Given the description of an element on the screen output the (x, y) to click on. 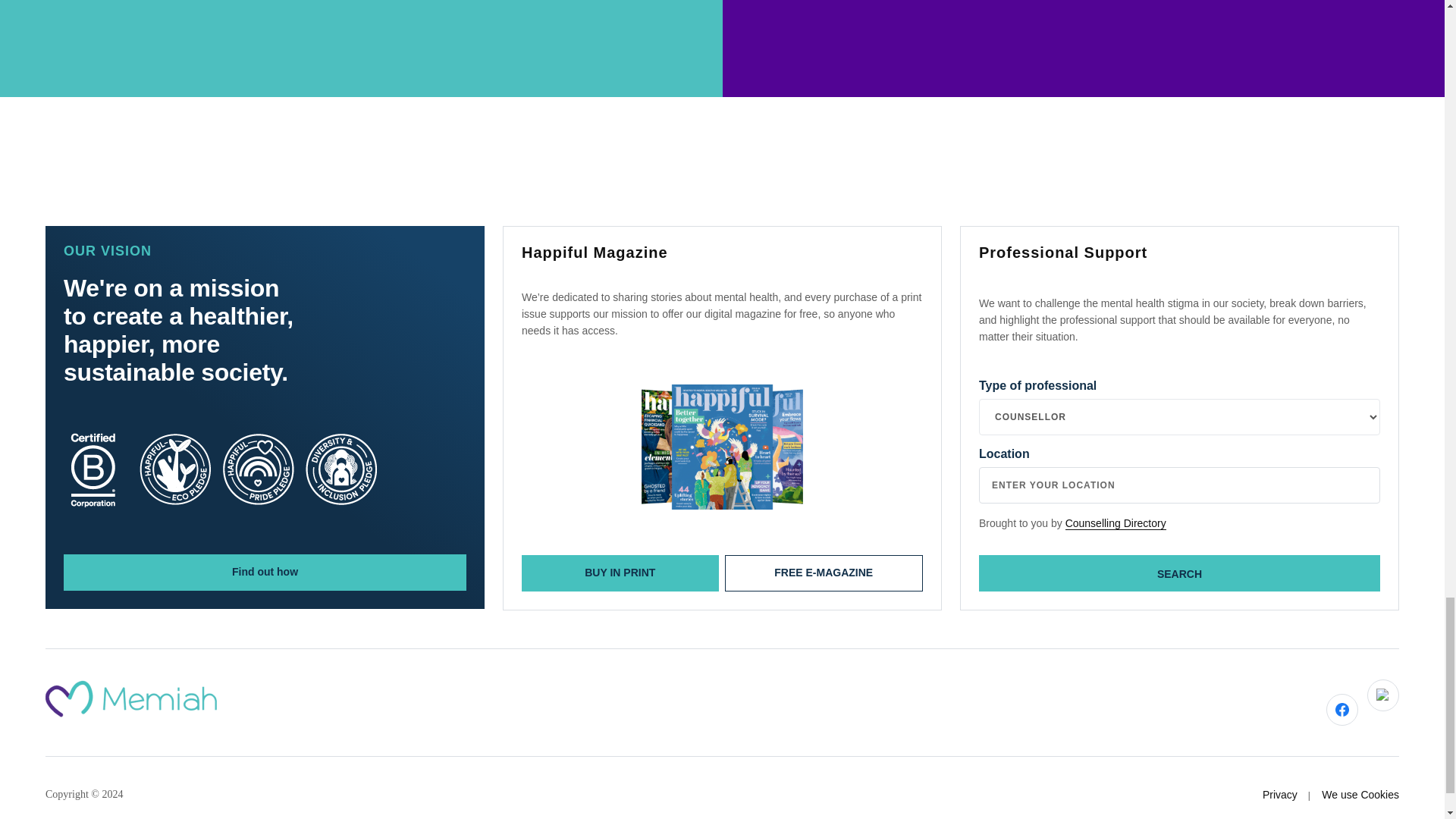
Find out how (264, 572)
SEARCH (1179, 573)
Counselling Directory (1115, 522)
Privacy (1279, 794)
FREE E-MAGAZINE (824, 573)
We use Cookies (1360, 794)
Happiful Website (722, 446)
Free eMagazine (361, 48)
Buy in Print (824, 573)
